Given the description of an element on the screen output the (x, y) to click on. 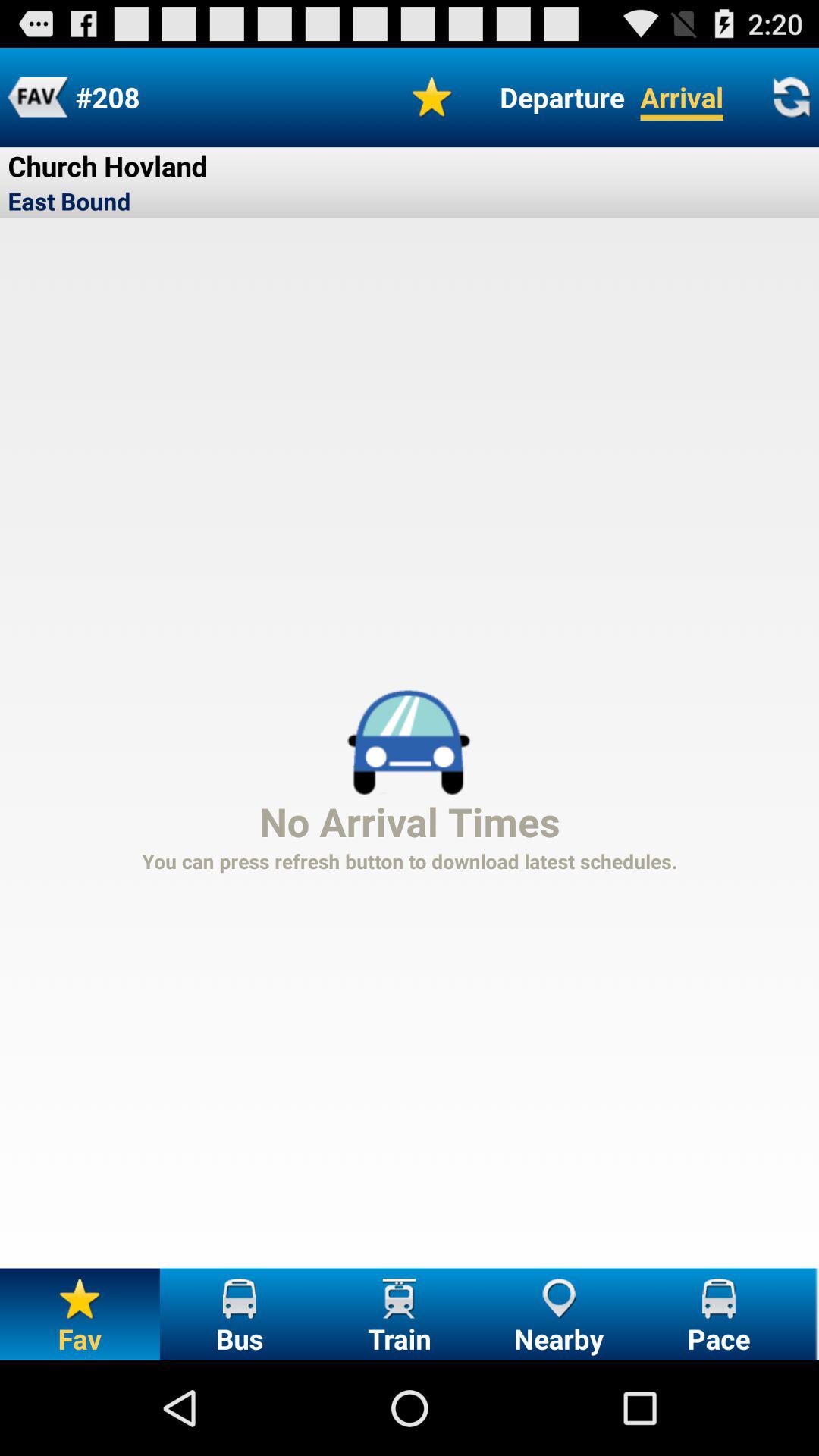
flip to the departure icon (561, 97)
